Given the description of an element on the screen output the (x, y) to click on. 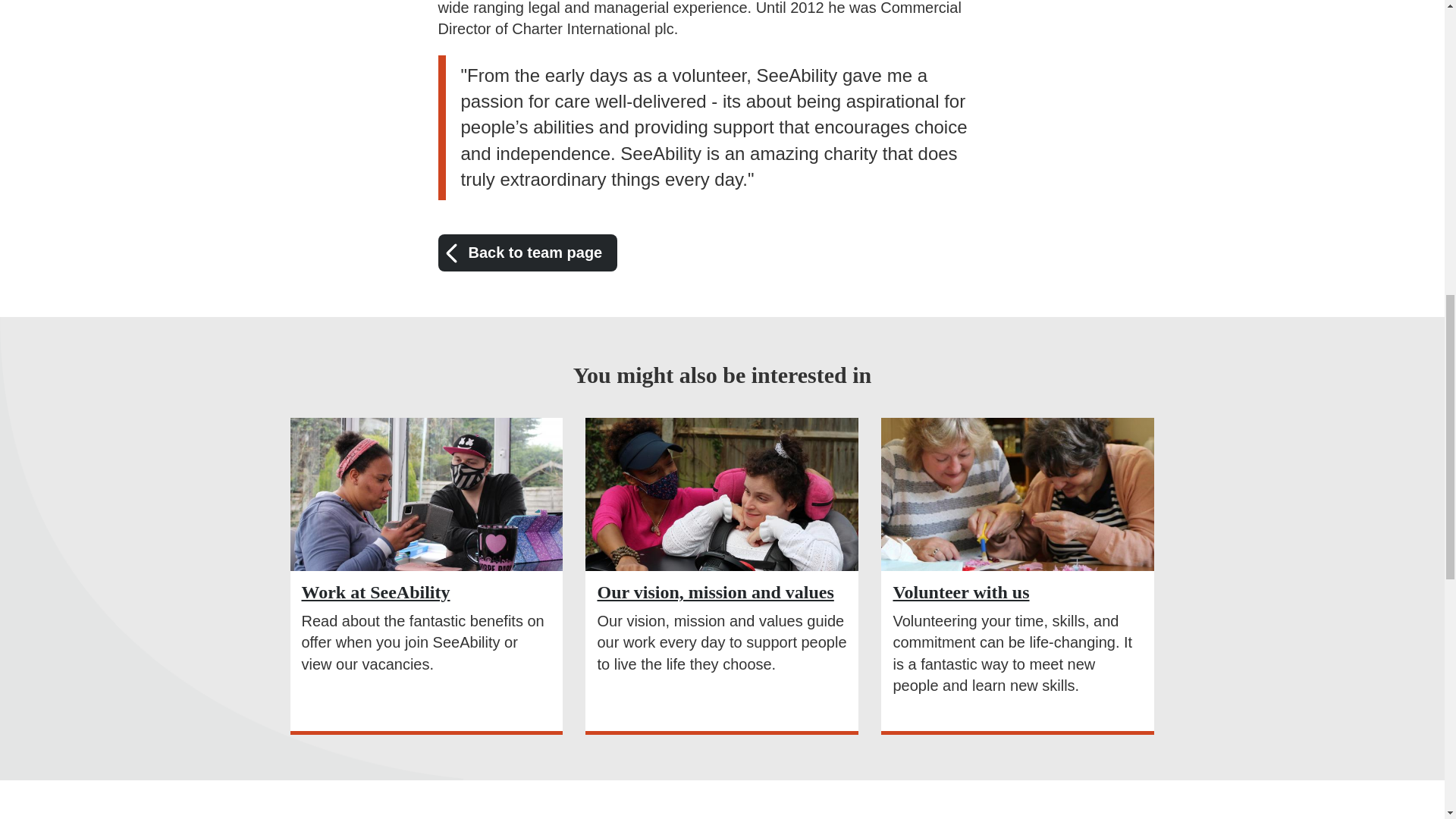
Back to team page (527, 252)
Our vision, mission and values (714, 591)
Volunteer with us (960, 591)
Work at SeeAbility (375, 591)
